Given the description of an element on the screen output the (x, y) to click on. 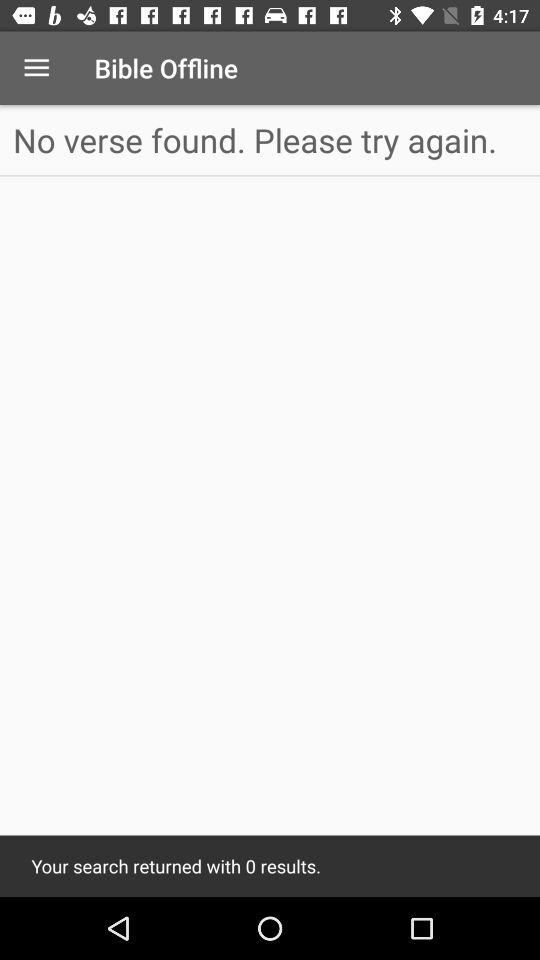
select no verse found (270, 140)
